Given the description of an element on the screen output the (x, y) to click on. 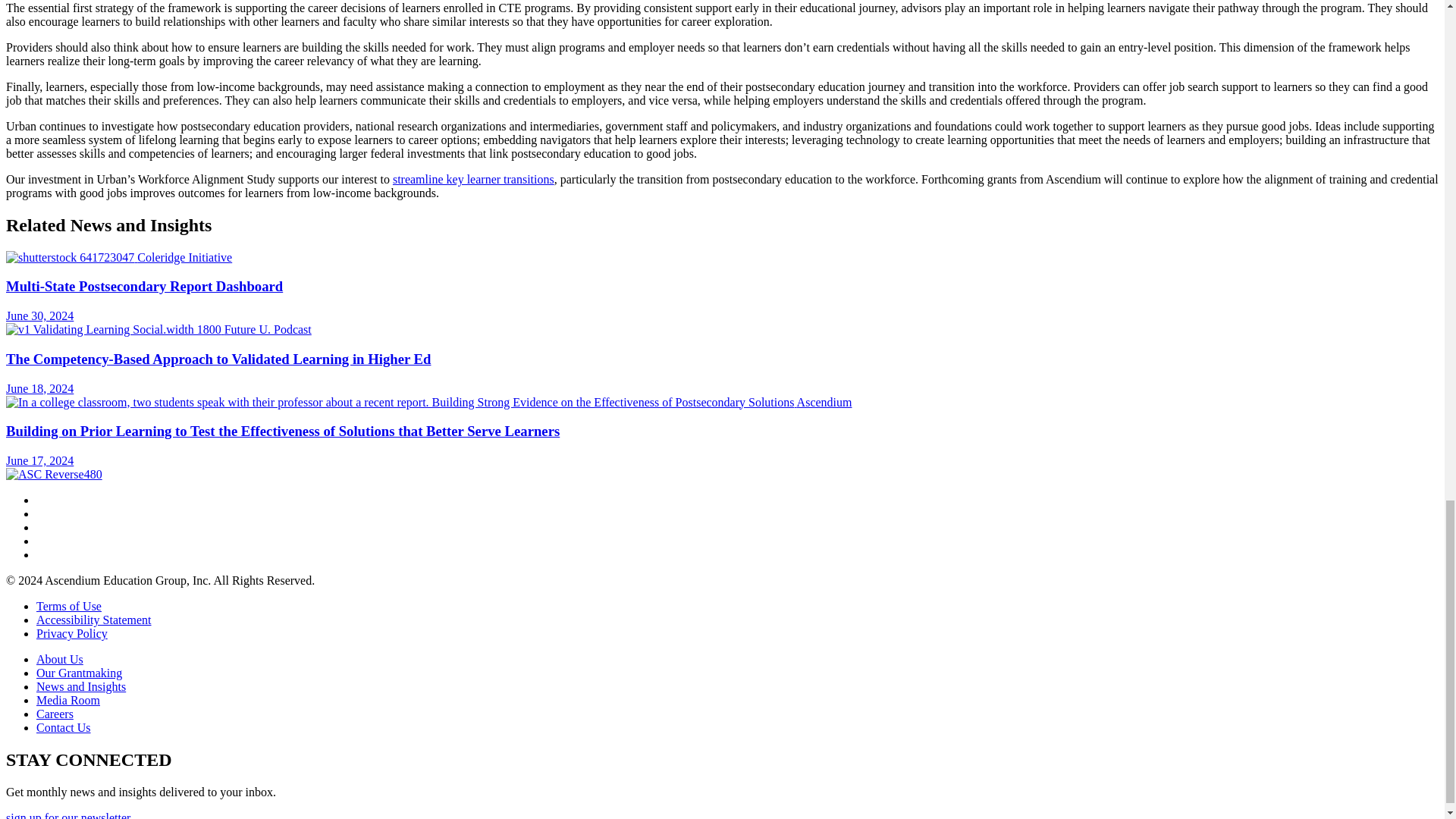
streamline key learner transitions (473, 178)
